Given the description of an element on the screen output the (x, y) to click on. 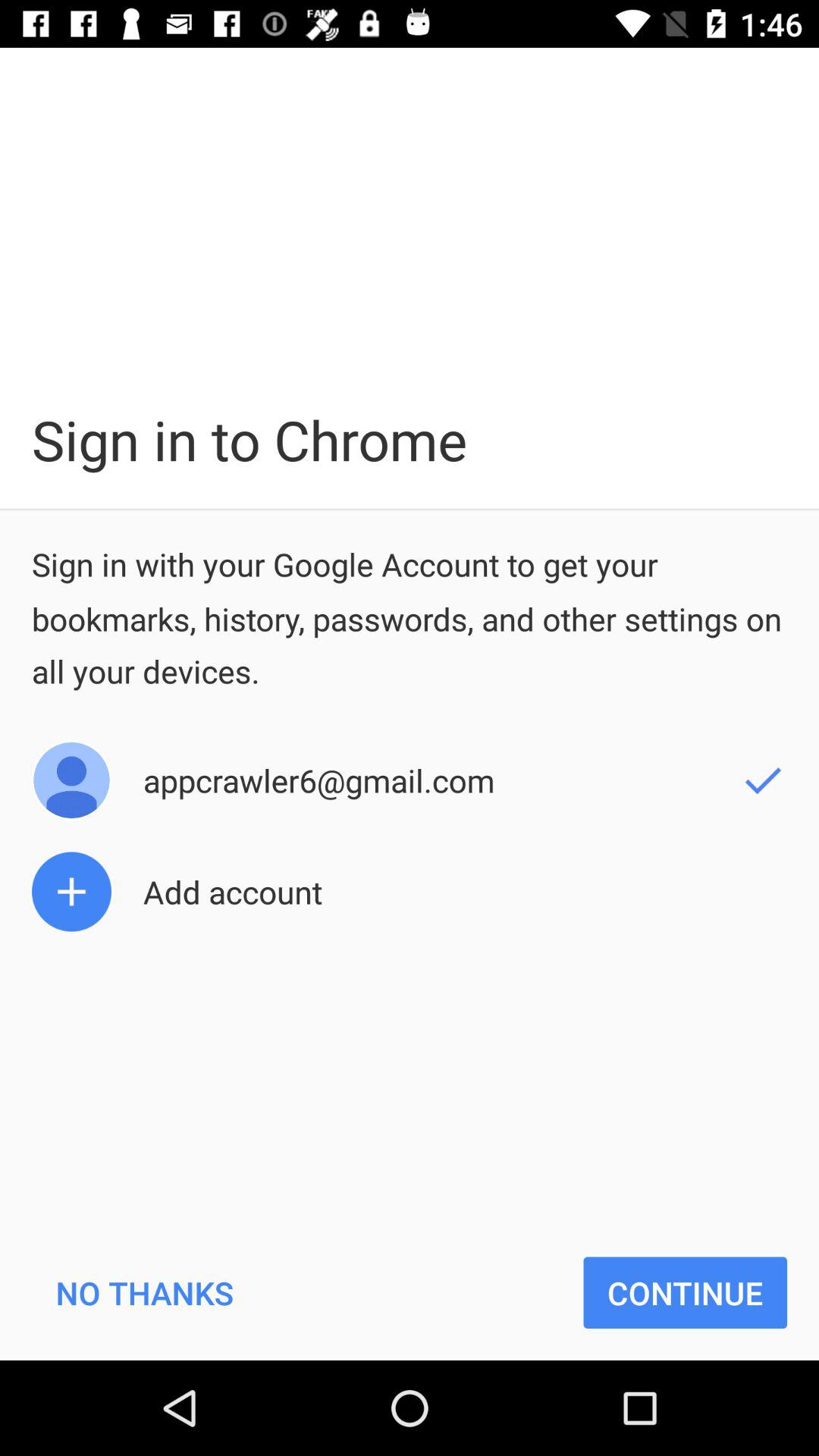
launch the item below the add account item (144, 1292)
